Given the description of an element on the screen output the (x, y) to click on. 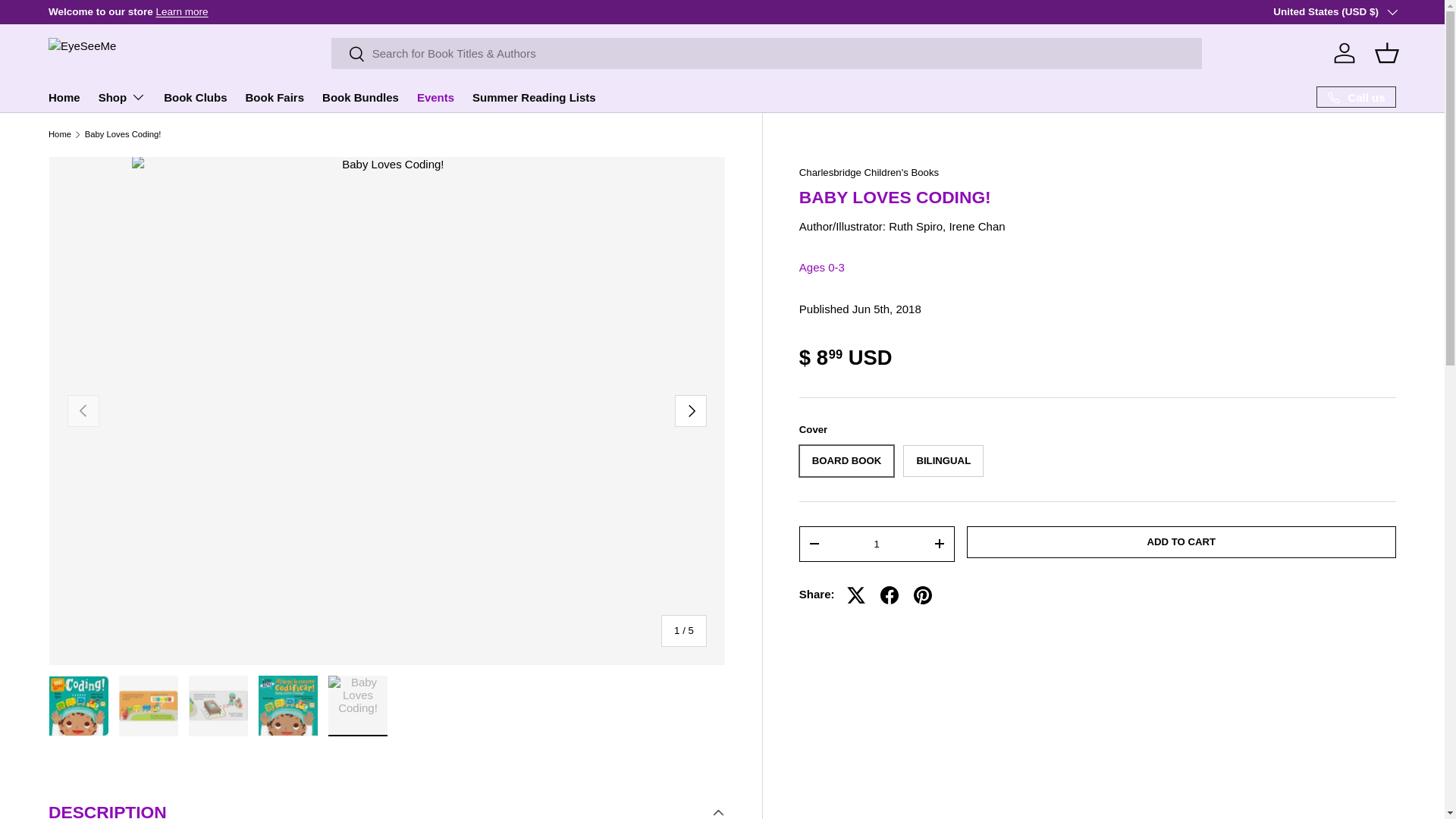
Search (348, 54)
About Us (181, 11)
Load image 2 in gallery view (148, 705)
1 (876, 544)
Baby Loves Coding! (122, 134)
Pin on Pinterest (922, 594)
Summer Reading Lists (533, 97)
Log in (1344, 52)
Home (64, 97)
